Given the description of an element on the screen output the (x, y) to click on. 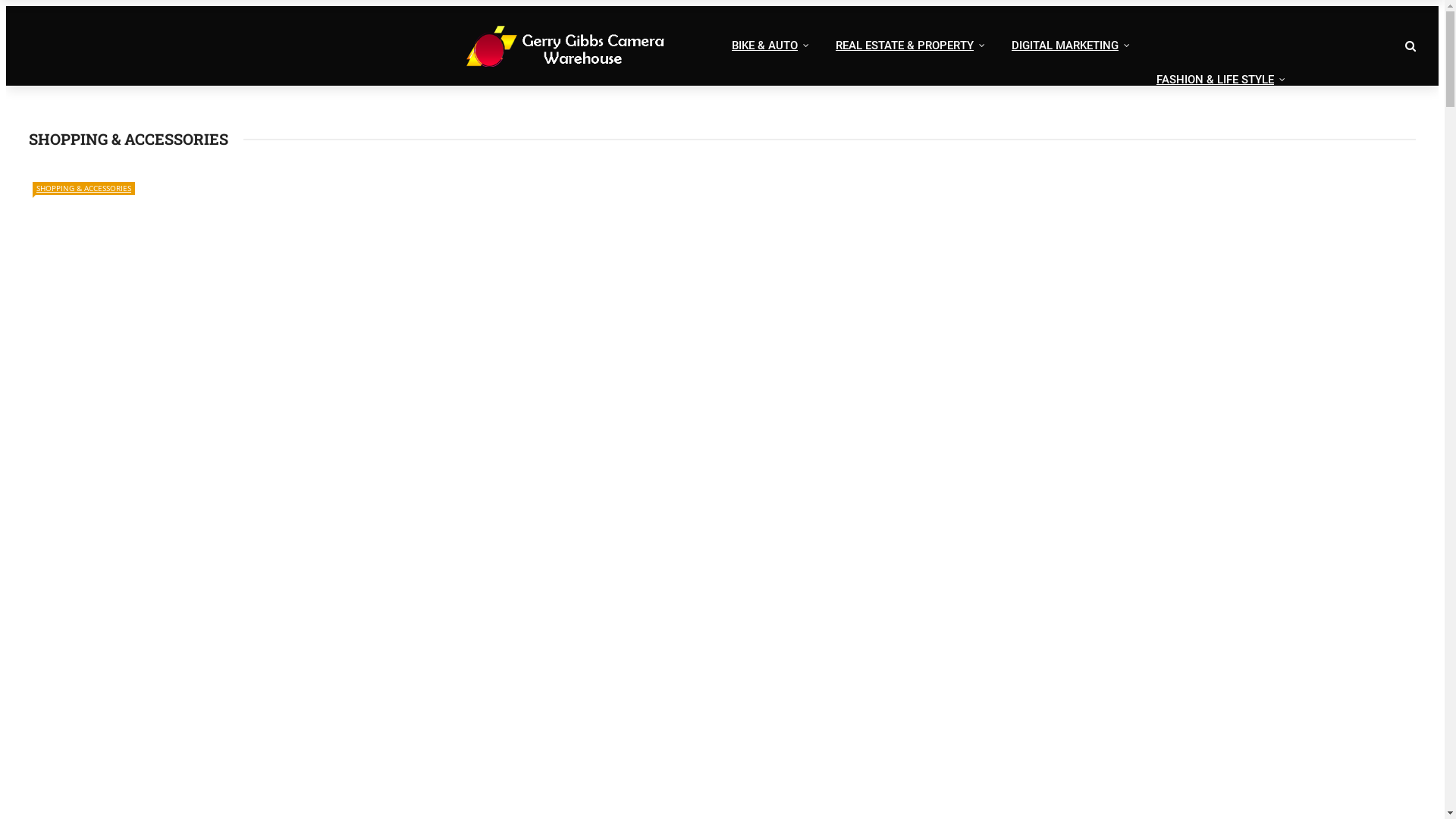
About Us Element type: text (221, 22)
DIGITAL MARKETING Element type: text (1068, 45)
REAL ESTATE & PROPERTY Element type: text (908, 45)
FASHION & LIFE STYLE Element type: text (1218, 79)
Contact Us Element type: text (434, 22)
BIKE & AUTO Element type: text (768, 45)
Write For Us Element type: text (361, 22)
Home Element type: text (165, 22)
Disclaimer Element type: text (287, 22)
SHOPPING & ACCESSORIES Element type: text (83, 188)
